Given the description of an element on the screen output the (x, y) to click on. 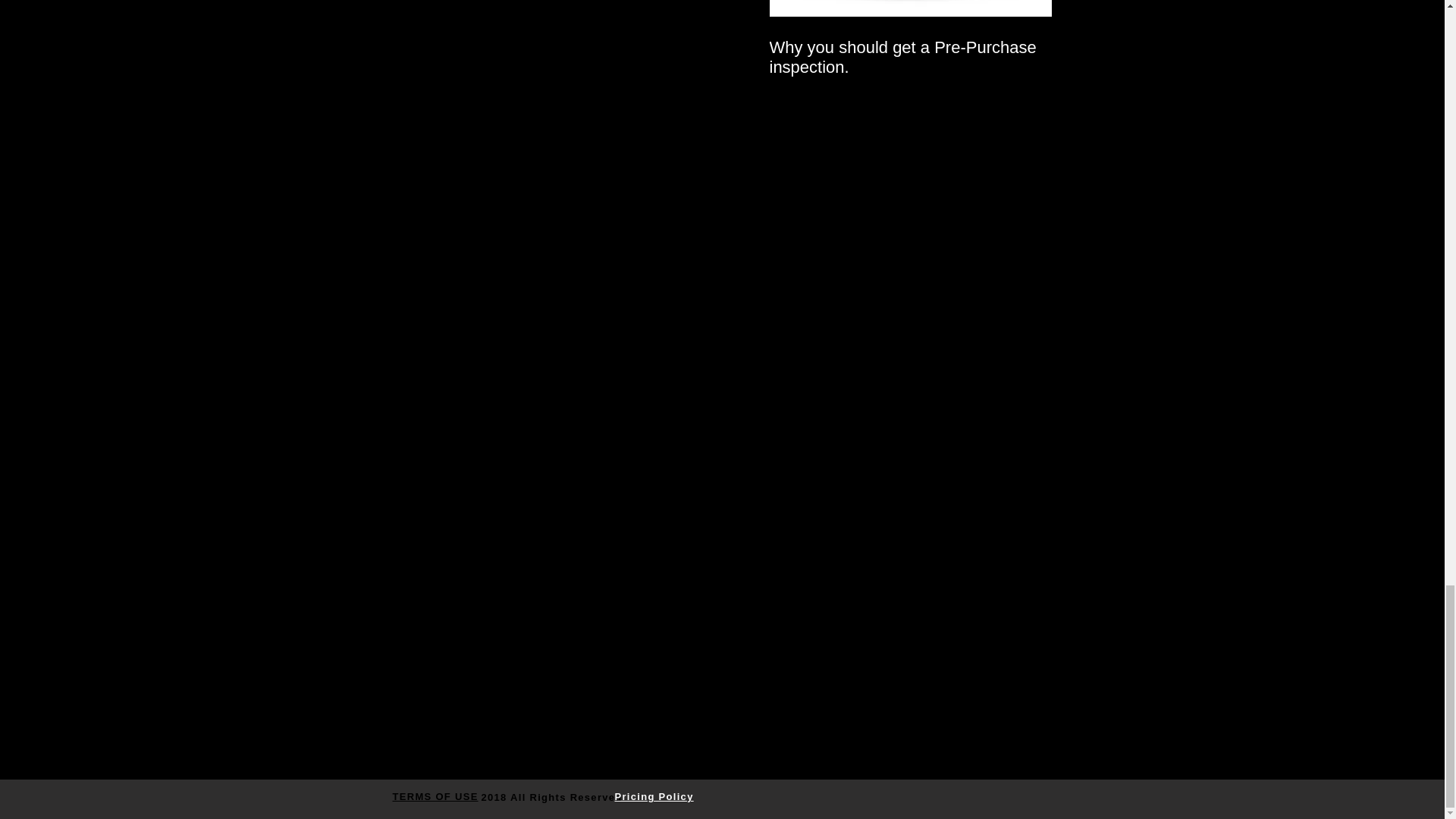
Why you should get a Pre-Purchase inspection. (909, 56)
TERMS OF USE (436, 796)
Pricing Policy (653, 796)
